Given the description of an element on the screen output the (x, y) to click on. 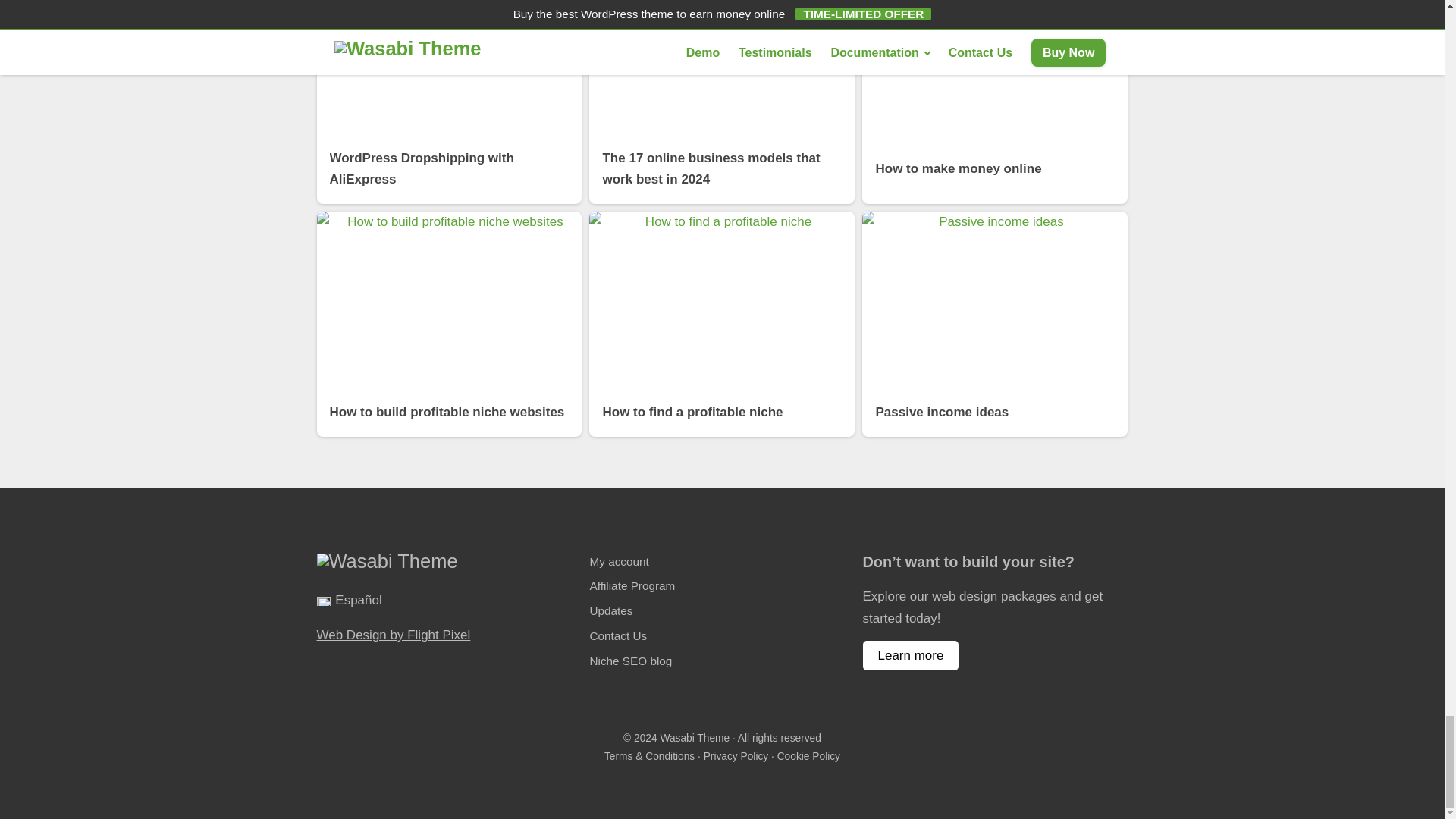
How to make money online (993, 101)
WordPress Dropshipping with AliExpress (449, 101)
The 17 online business models that work best in 2024 (721, 101)
